Given the description of an element on the screen output the (x, y) to click on. 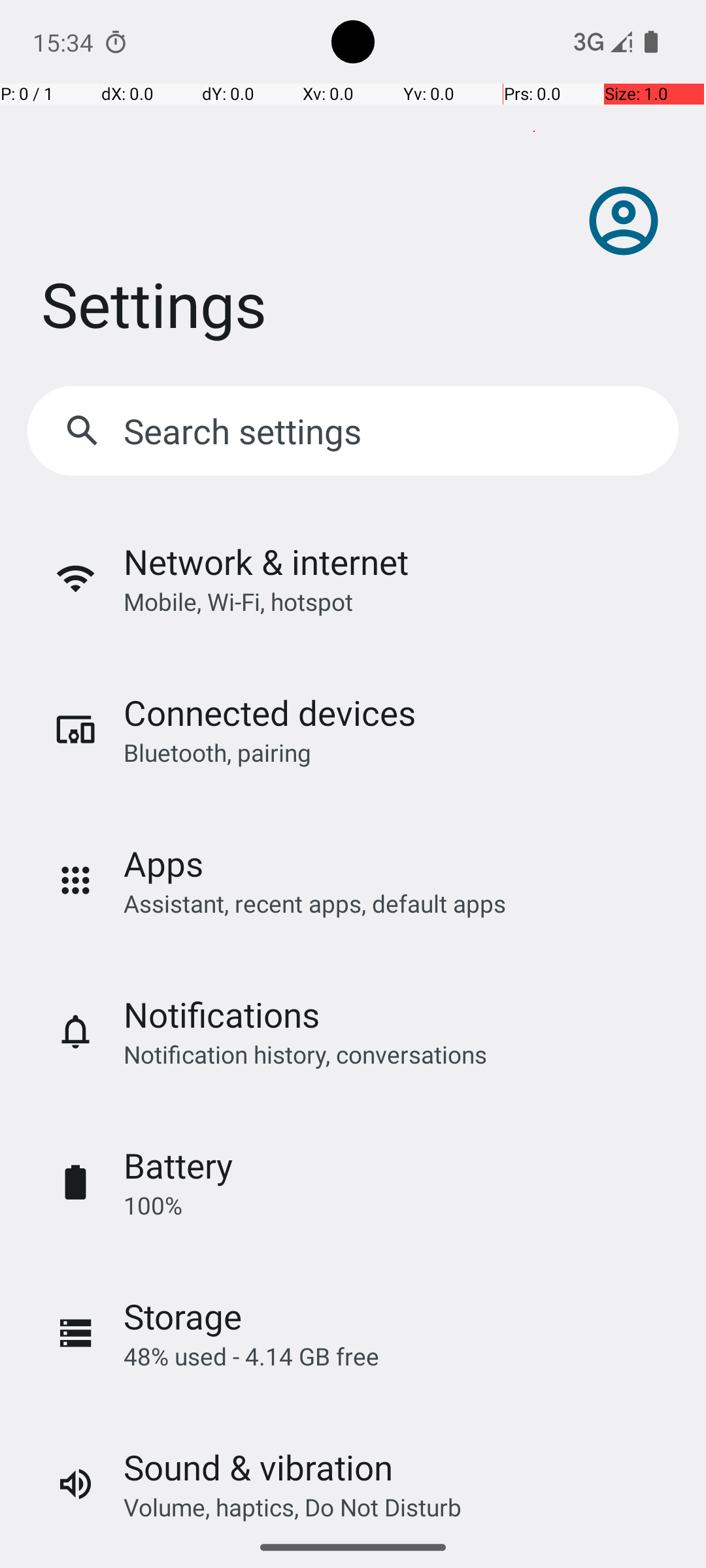
48% used - 4.14 GB free Element type: android.widget.TextView (251, 1355)
